Given the description of an element on the screen output the (x, y) to click on. 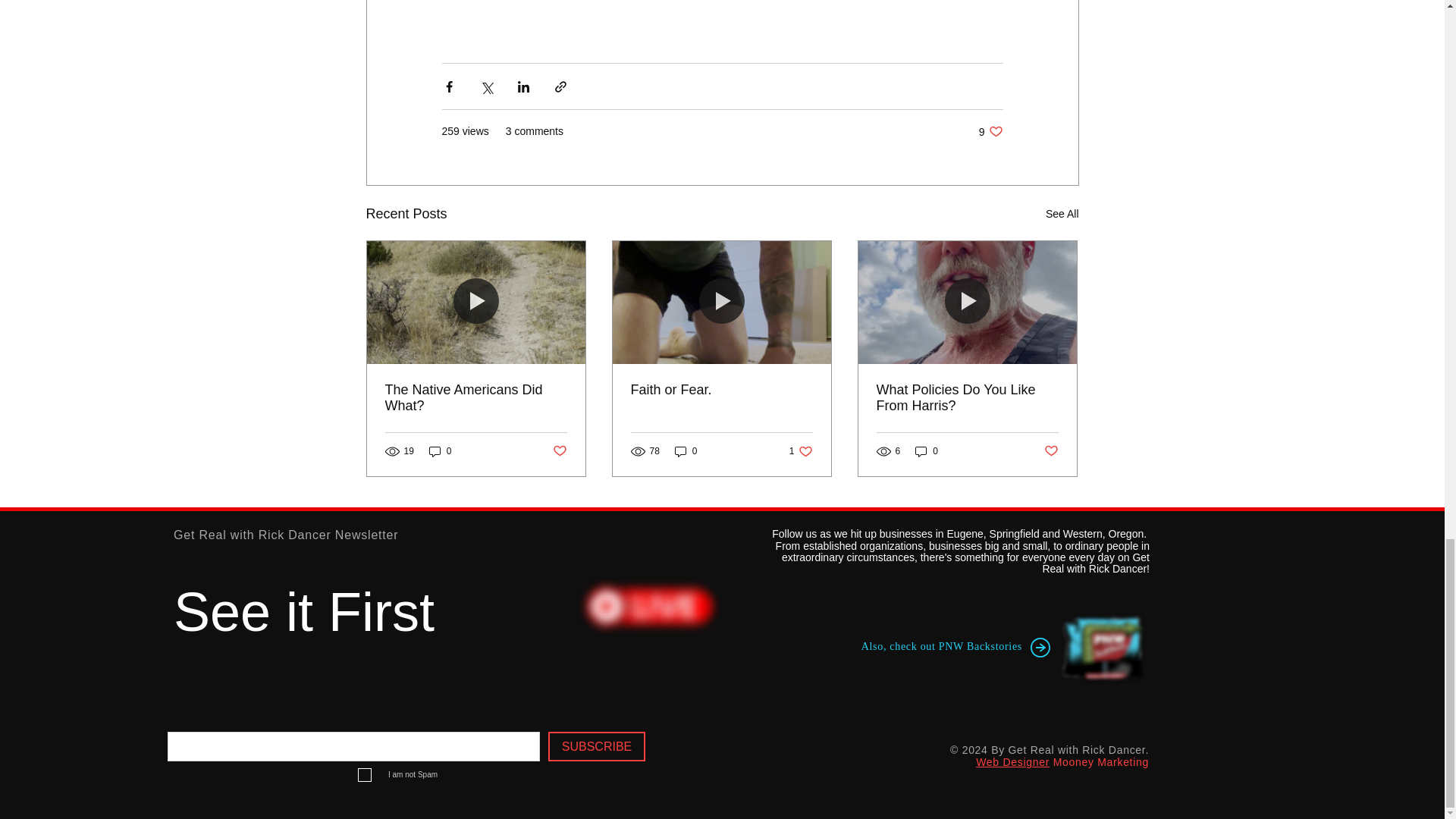
0 (685, 451)
The Native Americans Did What? (476, 398)
Post not marked as liked (1050, 451)
Post not marked as liked (558, 451)
What Policies Do You Like From Harris? (967, 398)
Faith or Fear. (721, 390)
0 (990, 131)
See All (800, 451)
